Given the description of an element on the screen output the (x, y) to click on. 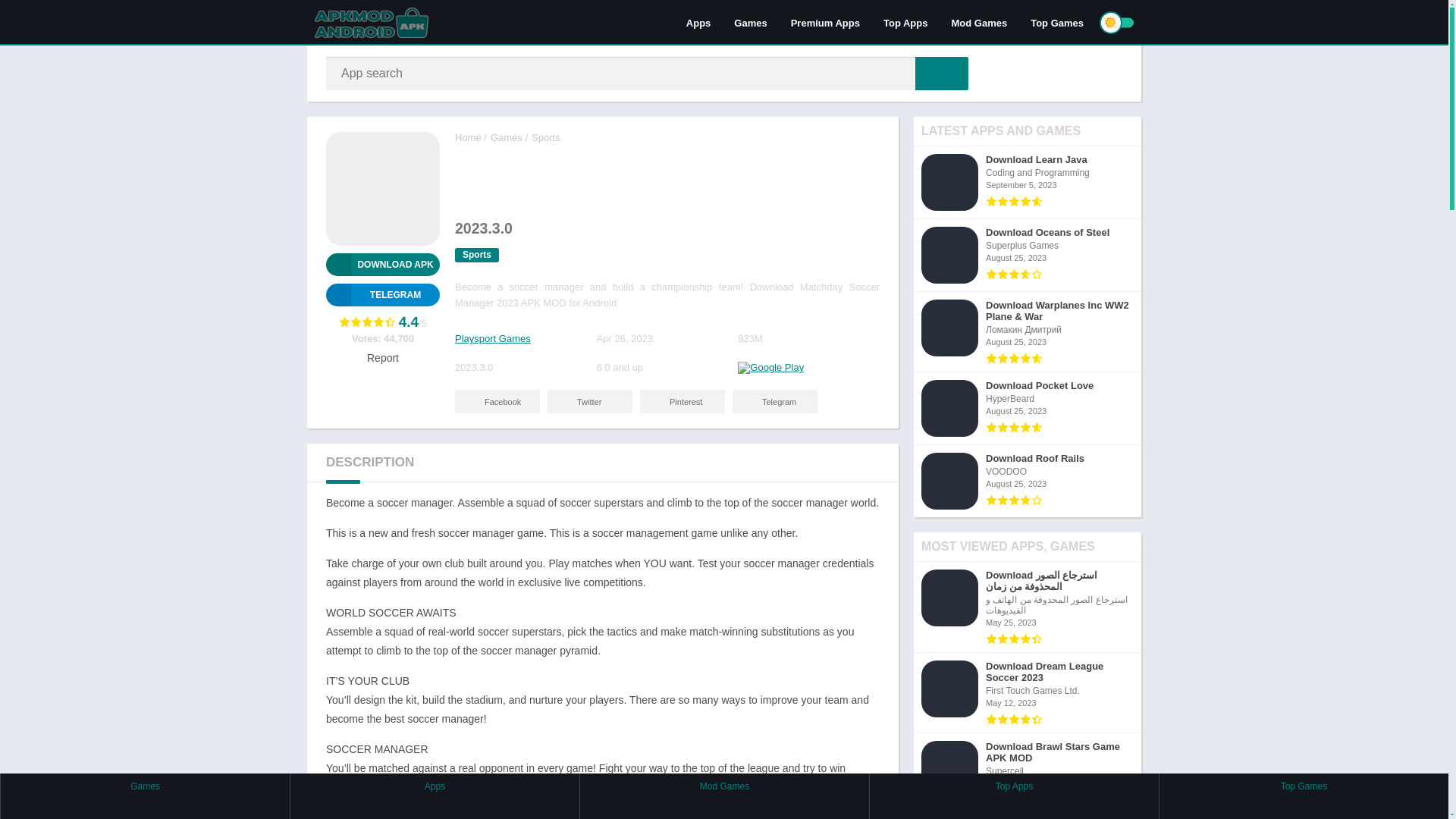
Telegram (774, 401)
Games (506, 137)
Facebook (497, 401)
TELEGRAM (382, 294)
Telegram (382, 294)
Apps (698, 22)
Home (467, 137)
Sports (476, 255)
Top Games (1056, 22)
Report (382, 357)
